Given the description of an element on the screen output the (x, y) to click on. 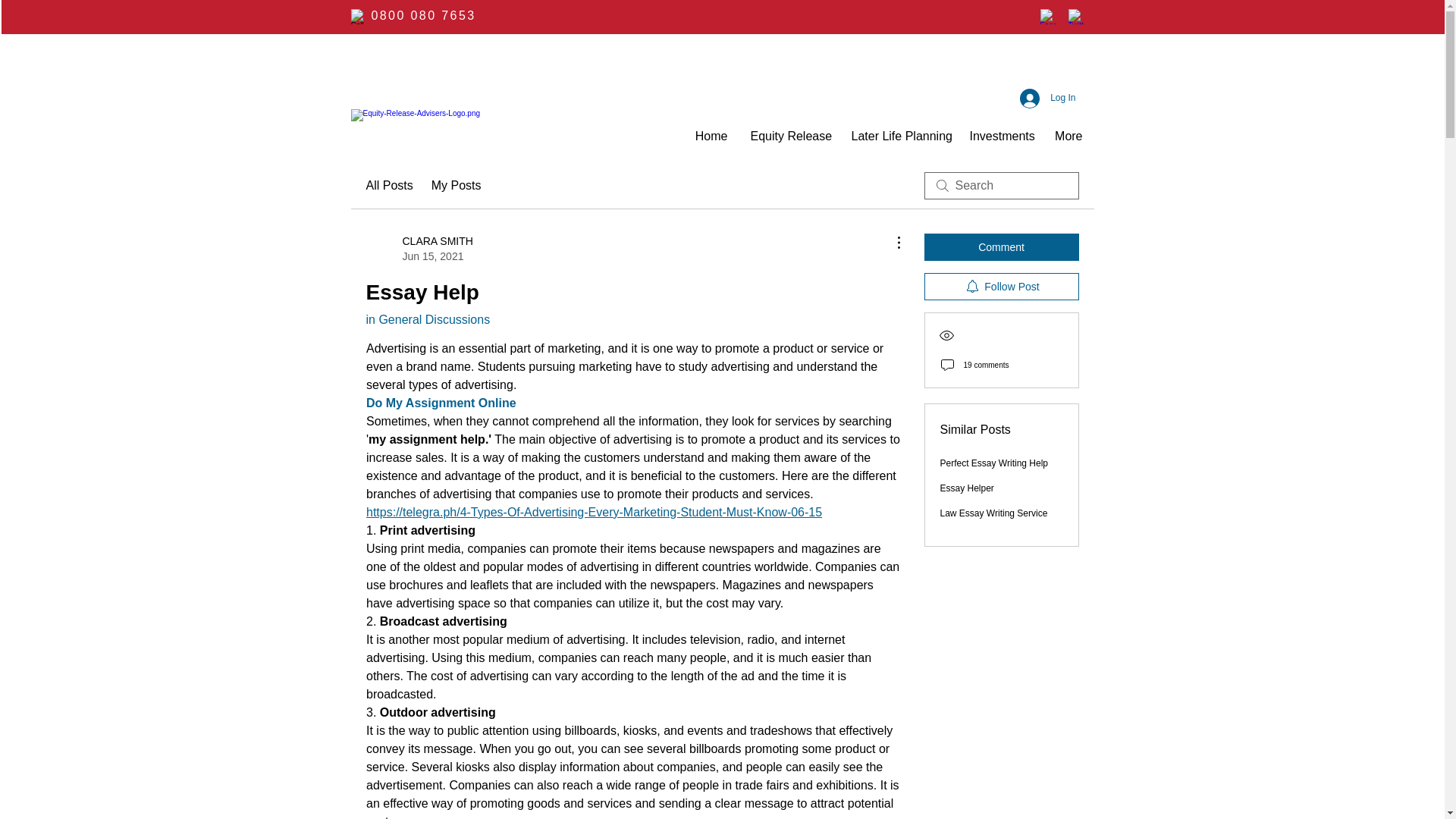
My Posts (418, 248)
Do My Assignment Online (455, 185)
in General Discussions (440, 402)
Log In (427, 318)
Investments (1047, 97)
Equity Release (999, 136)
All Posts (789, 136)
Later Life Planning (388, 185)
Home (899, 136)
